Given the description of an element on the screen output the (x, y) to click on. 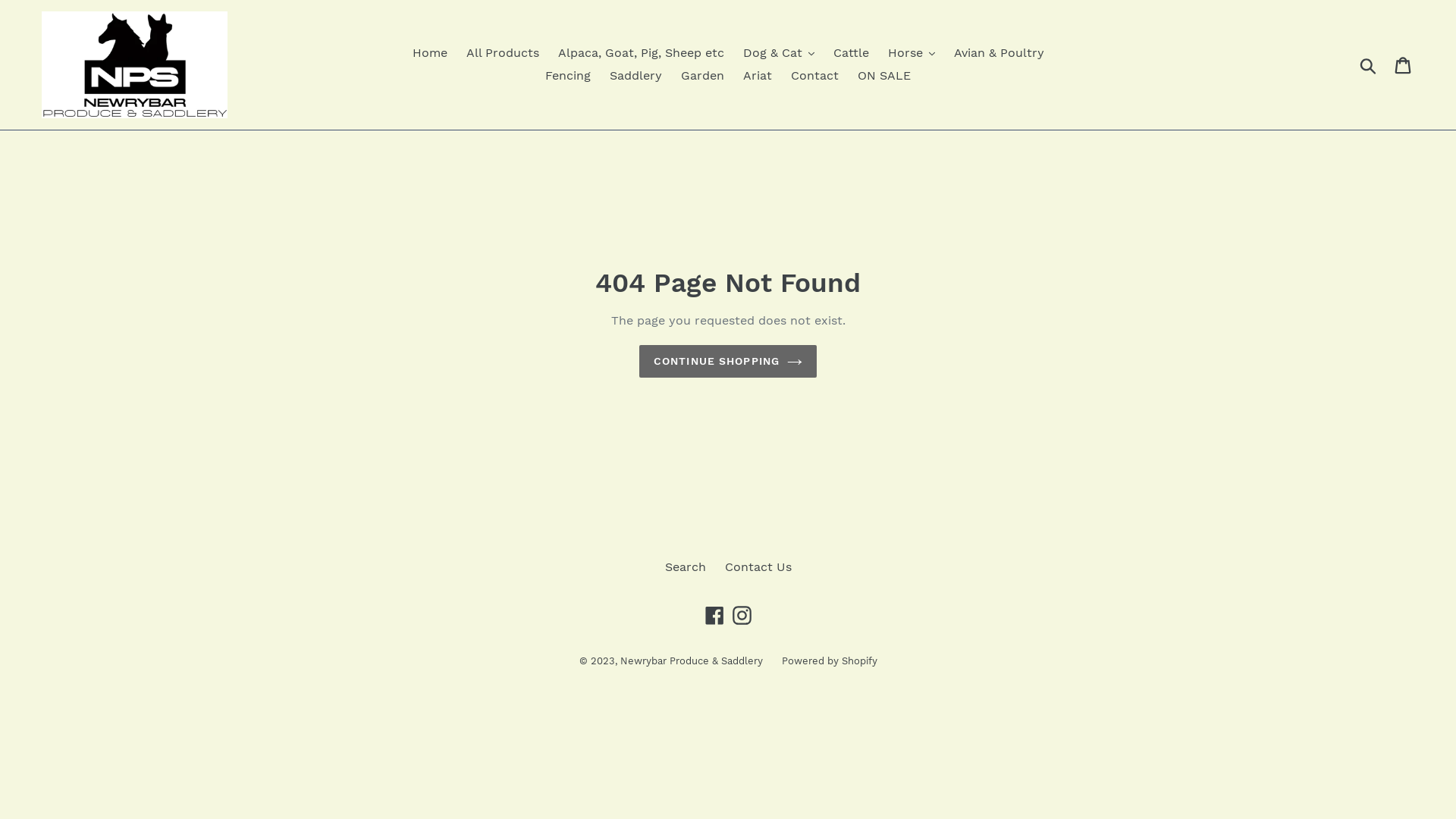
Search Element type: text (684, 566)
Avian & Poultry Element type: text (998, 52)
Saddlery Element type: text (635, 75)
Cattle Element type: text (850, 52)
Submit Element type: text (1368, 64)
Garden Element type: text (702, 75)
Newrybar Produce & Saddlery Element type: text (691, 660)
Ariat Element type: text (757, 75)
CONTINUE SHOPPING Element type: text (727, 361)
All Products Element type: text (502, 52)
Contact Us Element type: text (757, 566)
Instagram Element type: text (741, 614)
Contact Element type: text (814, 75)
Cart Element type: text (1403, 64)
Alpaca, Goat, Pig, Sheep etc Element type: text (640, 52)
Powered by Shopify Element type: text (828, 660)
ON SALE Element type: text (884, 75)
Fencing Element type: text (567, 75)
Facebook Element type: text (713, 614)
Home Element type: text (429, 52)
